Given the description of an element on the screen output the (x, y) to click on. 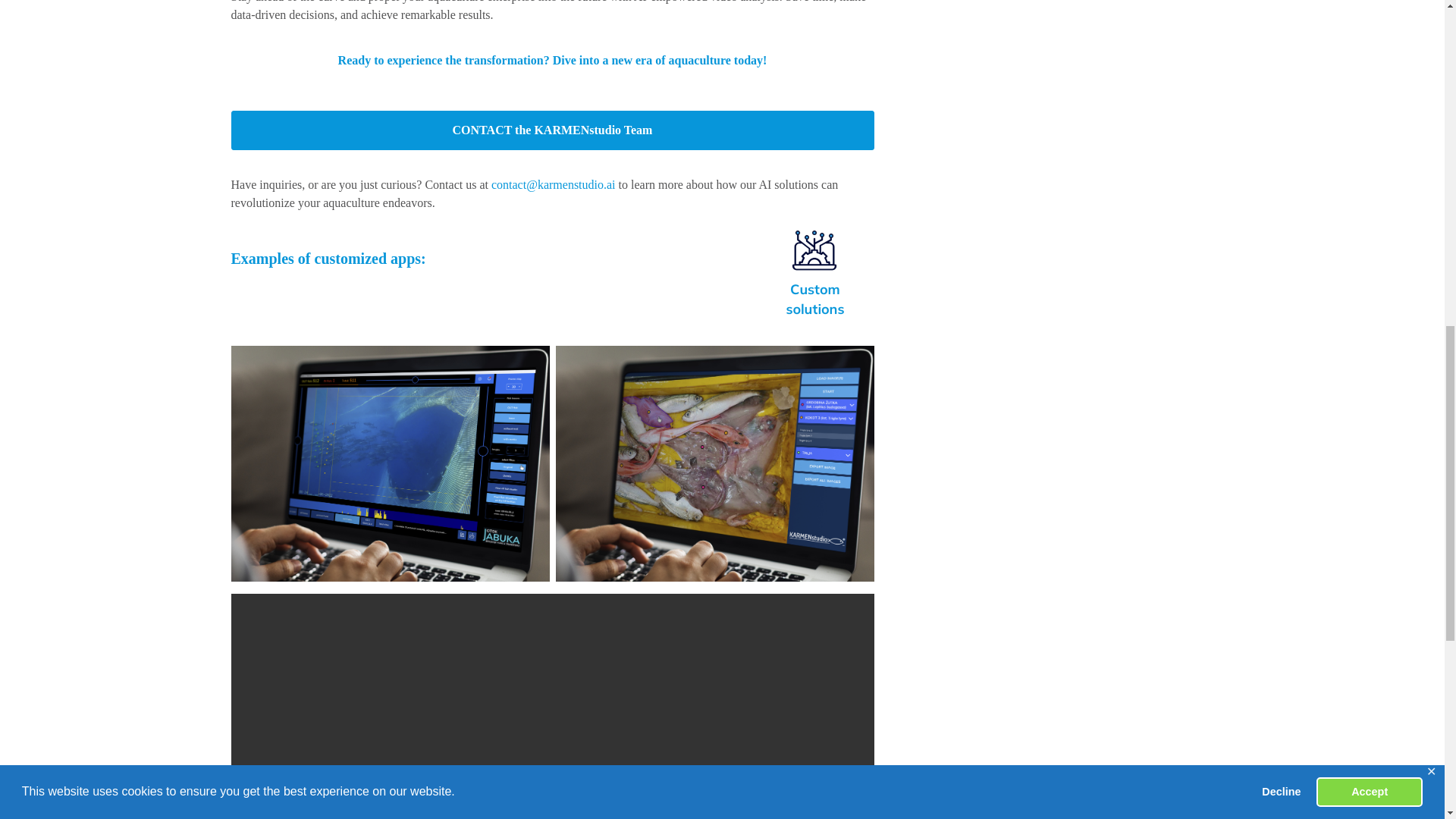
CONTACT the KARMENstudio Team (551, 129)
